Given the description of an element on the screen output the (x, y) to click on. 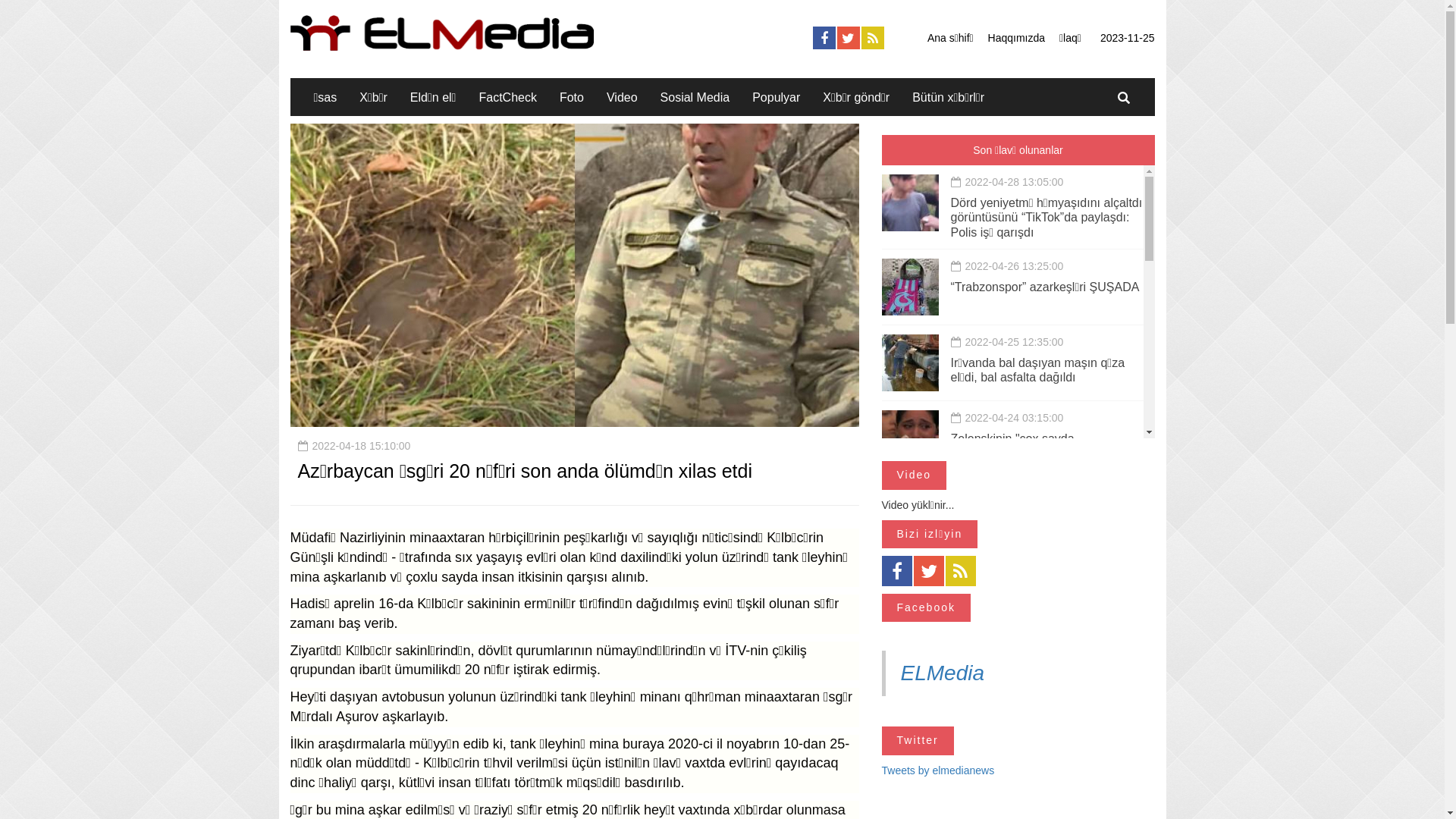
Sosial Media Element type: text (695, 96)
ELMedia Element type: text (942, 672)
Foto Element type: text (571, 96)
FactCheck Element type: text (507, 96)
Video Element type: text (622, 96)
Populyar Element type: text (775, 96)
Tweets by elmedianews Element type: text (937, 770)
